Given the description of an element on the screen output the (x, y) to click on. 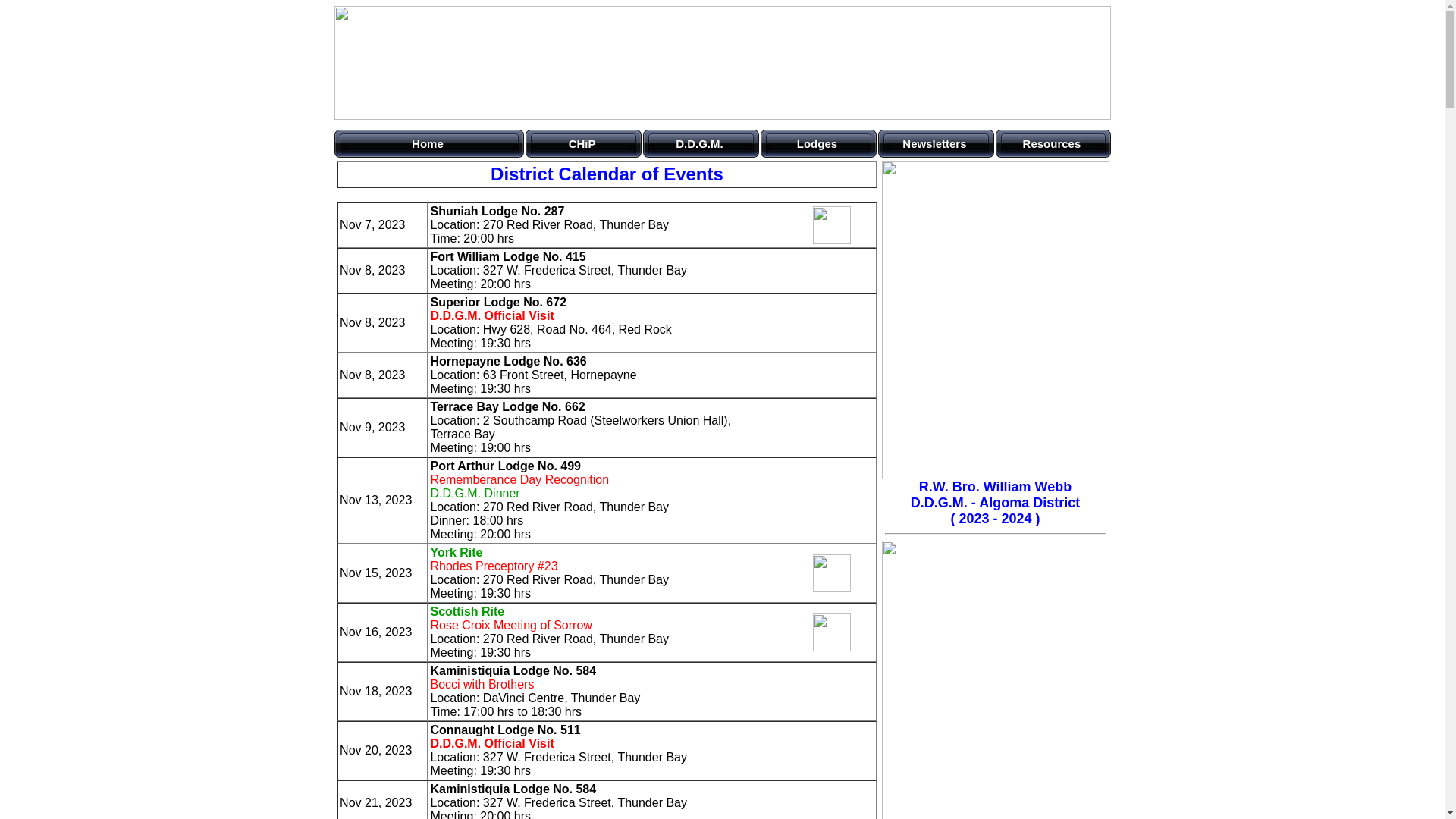
CHiP 
D.D.G.M. 
Lodges 
Newsletters 
Resources 
  Element type: text (817, 143)
Newsletters  Element type: text (936, 143)
CHiP  Element type: text (583, 143)
Resources  Element type: text (1052, 143)
D.D.G.M.  Element type: text (701, 143)
Home 
  Element type: text (429, 143)
Lodges  Element type: text (818, 143)
